Given the description of an element on the screen output the (x, y) to click on. 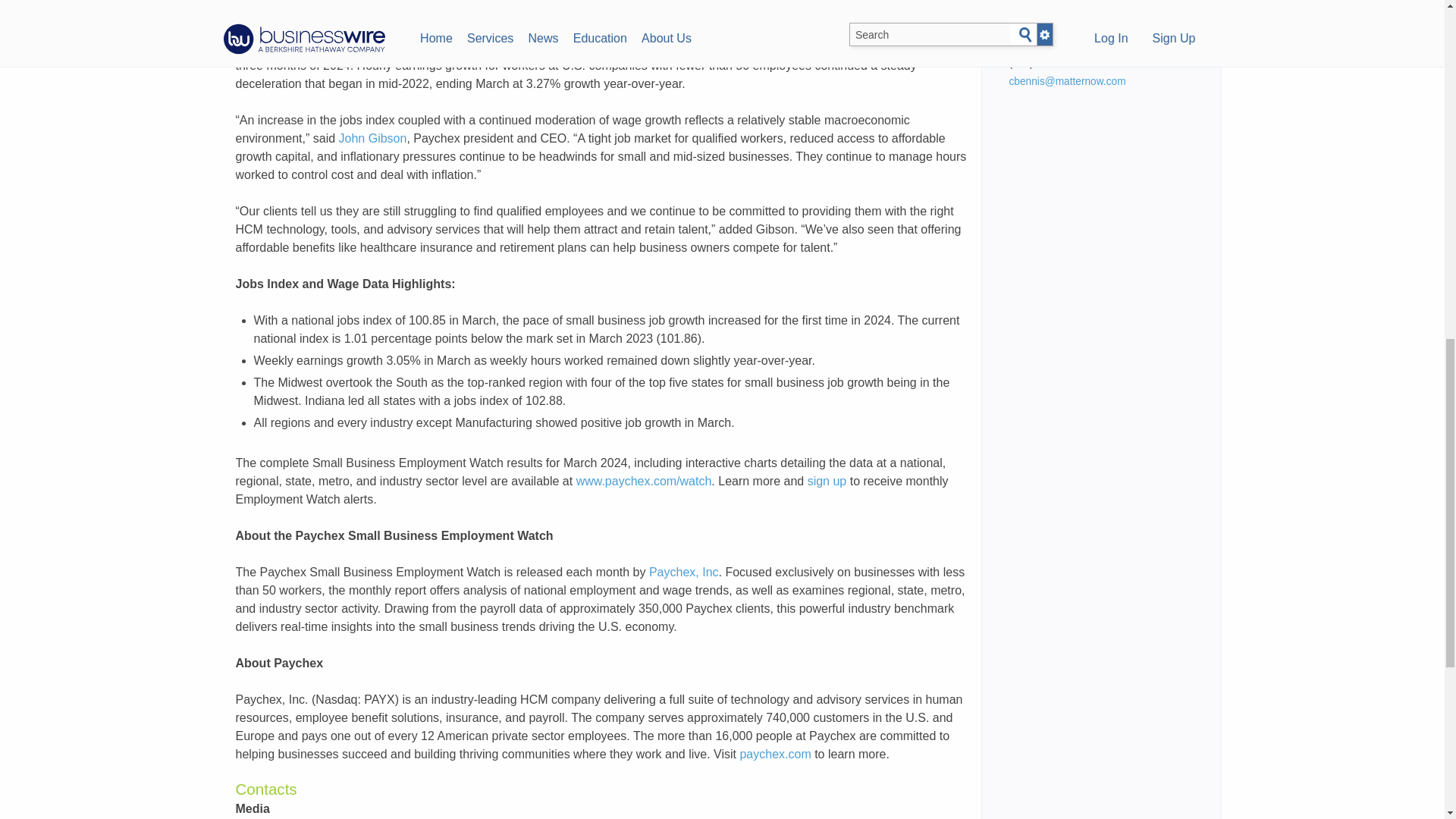
sign up (827, 481)
John Gibson (373, 137)
paychex.com (774, 753)
BUSINESS WIRE (400, 29)
Paychex, Inc (684, 571)
Paychex Small Business Employment Watch (672, 29)
